Given the description of an element on the screen output the (x, y) to click on. 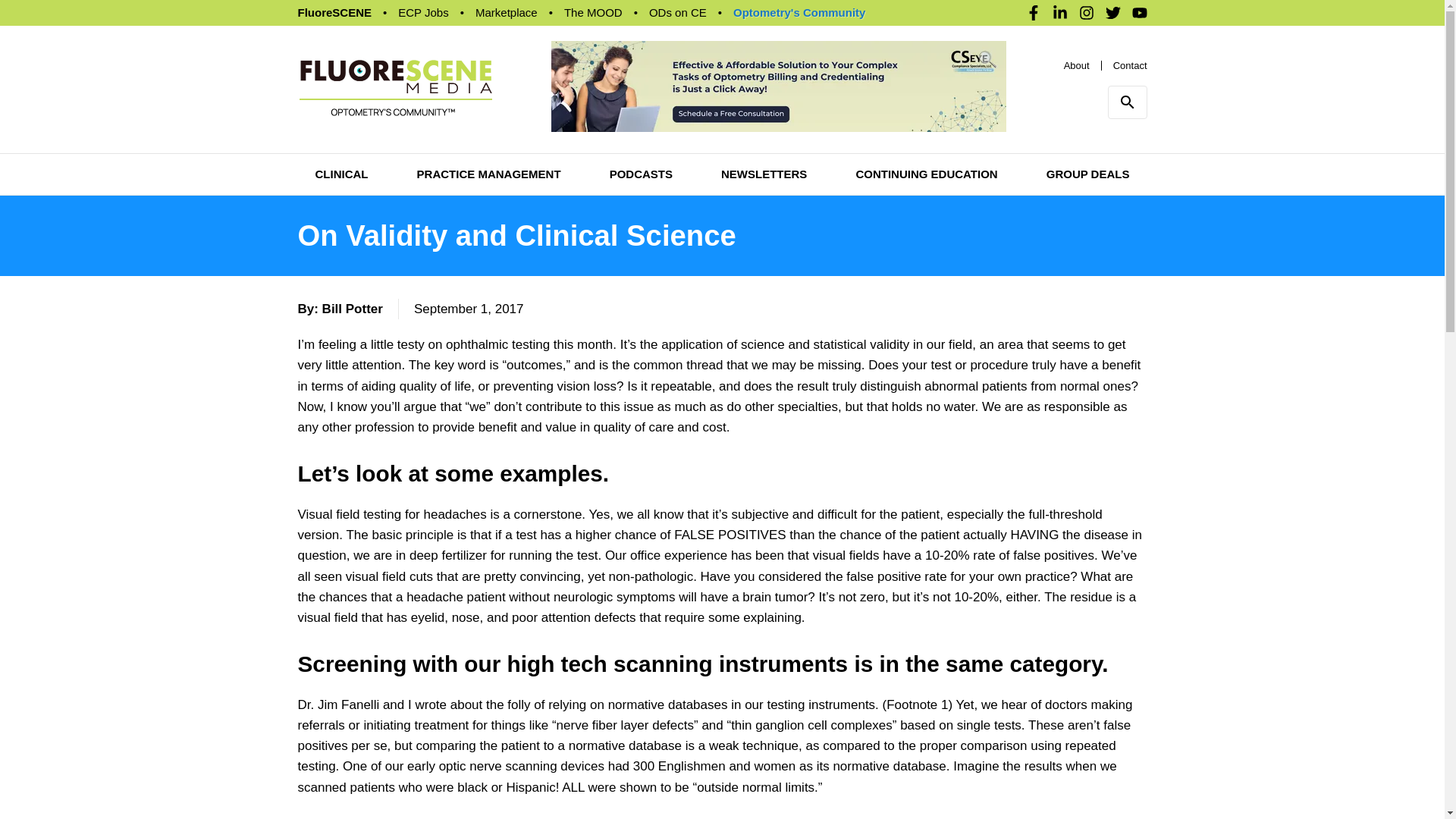
CONTINUING EDUCATION (926, 173)
ECP Jobs (422, 11)
The MOOD (593, 11)
PRACTICE MANAGEMENT (488, 173)
CLINICAL (341, 173)
Marketplace (506, 11)
NEWSLETTERS (763, 173)
GROUP DEALS (1088, 173)
PODCASTS (641, 173)
About (1076, 64)
Optometry's Community (798, 11)
Contact (1130, 64)
ODs on CE (677, 11)
